Given the description of an element on the screen output the (x, y) to click on. 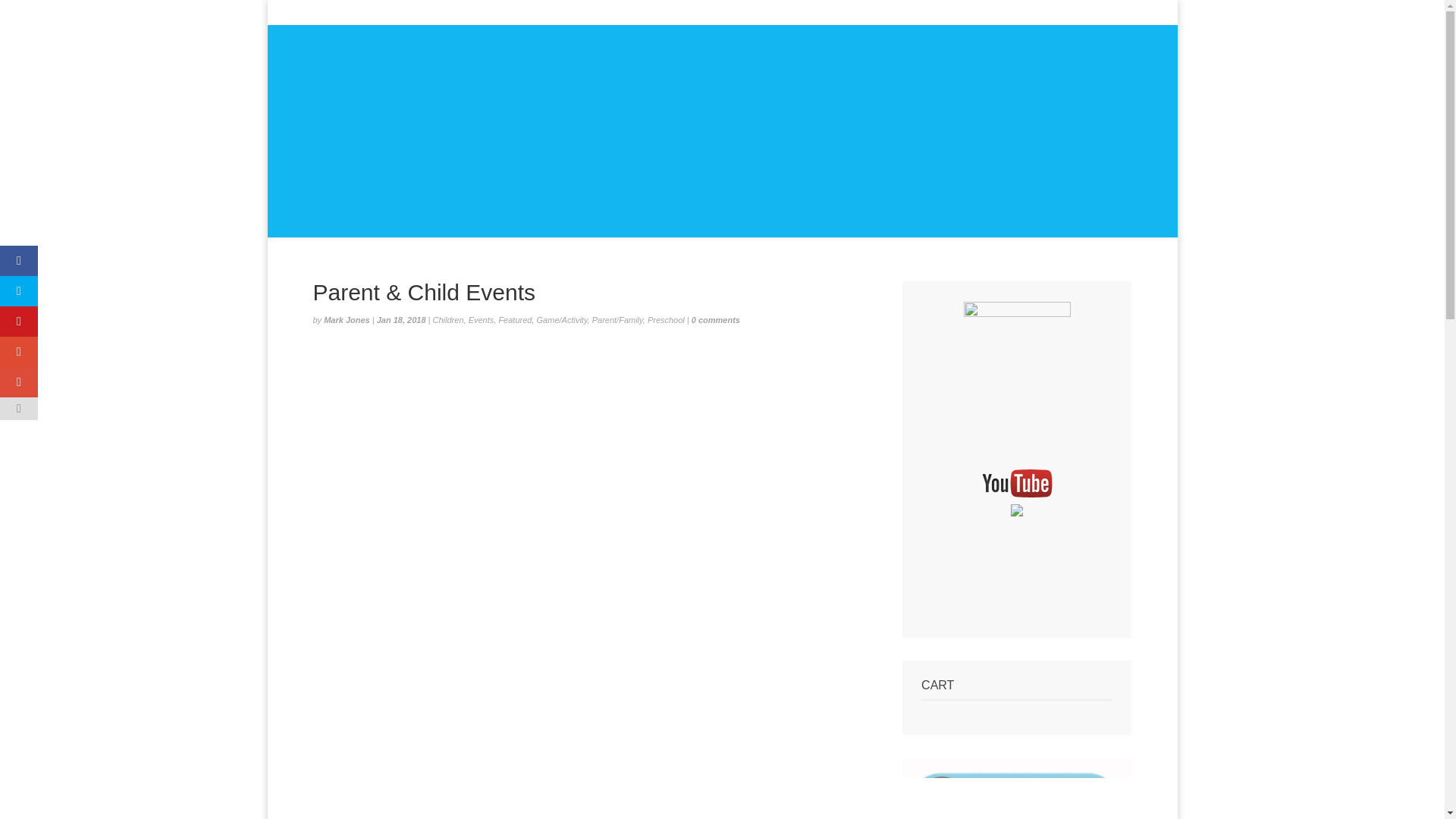
0 Items (1108, 10)
Events (481, 319)
Mark Jones (346, 319)
Preschool (665, 319)
Cart (1018, 14)
Home (847, 14)
0 comments (715, 319)
Featured (514, 319)
Posts by Mark Jones (346, 319)
Checkout (974, 14)
Contact (1058, 14)
My Account (906, 14)
Children (448, 319)
